Given the description of an element on the screen output the (x, y) to click on. 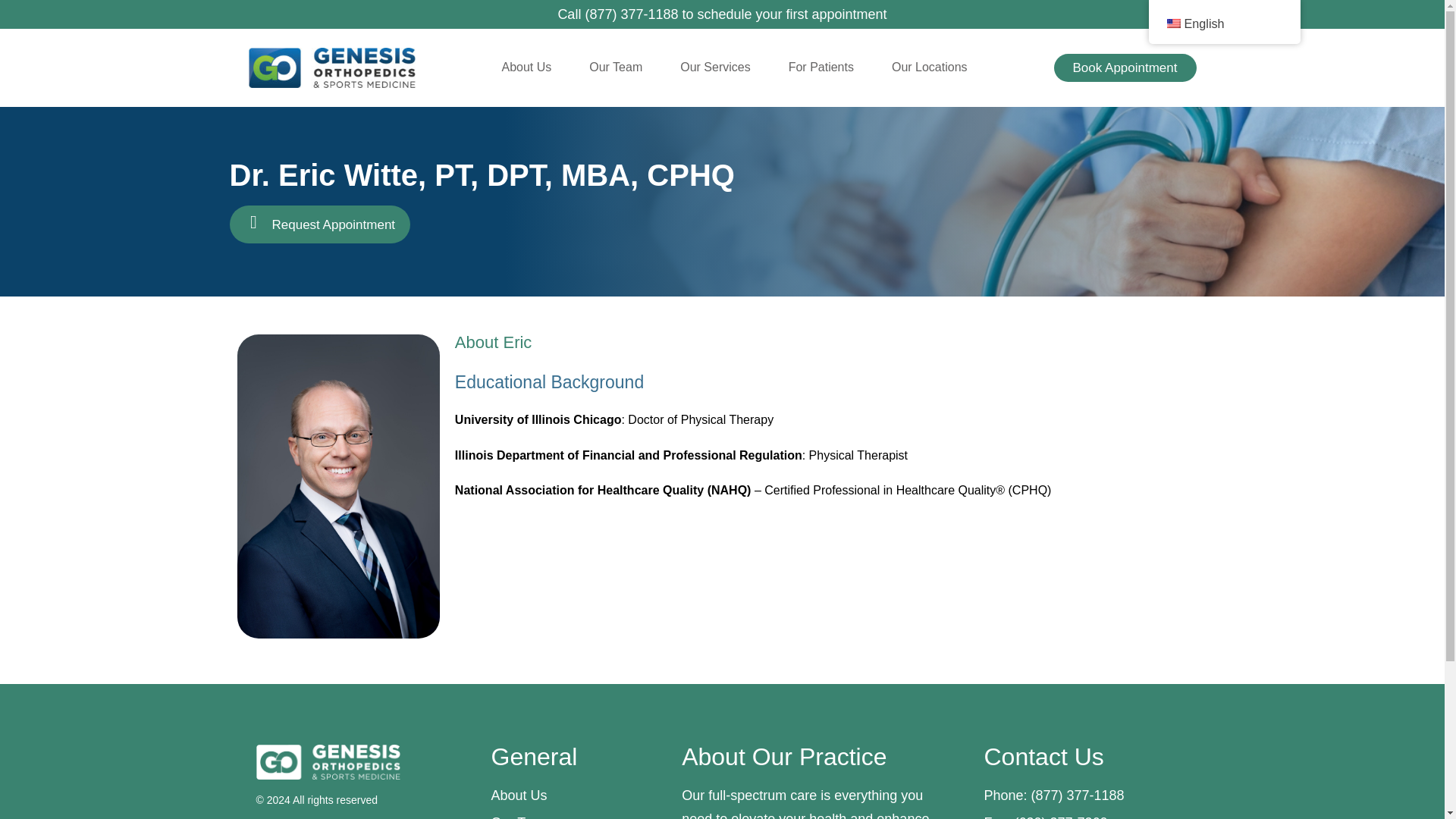
For Patients (821, 67)
Our Locations (929, 67)
English (1172, 22)
Our Services (714, 67)
About Us (525, 67)
Our Team (615, 67)
